Given the description of an element on the screen output the (x, y) to click on. 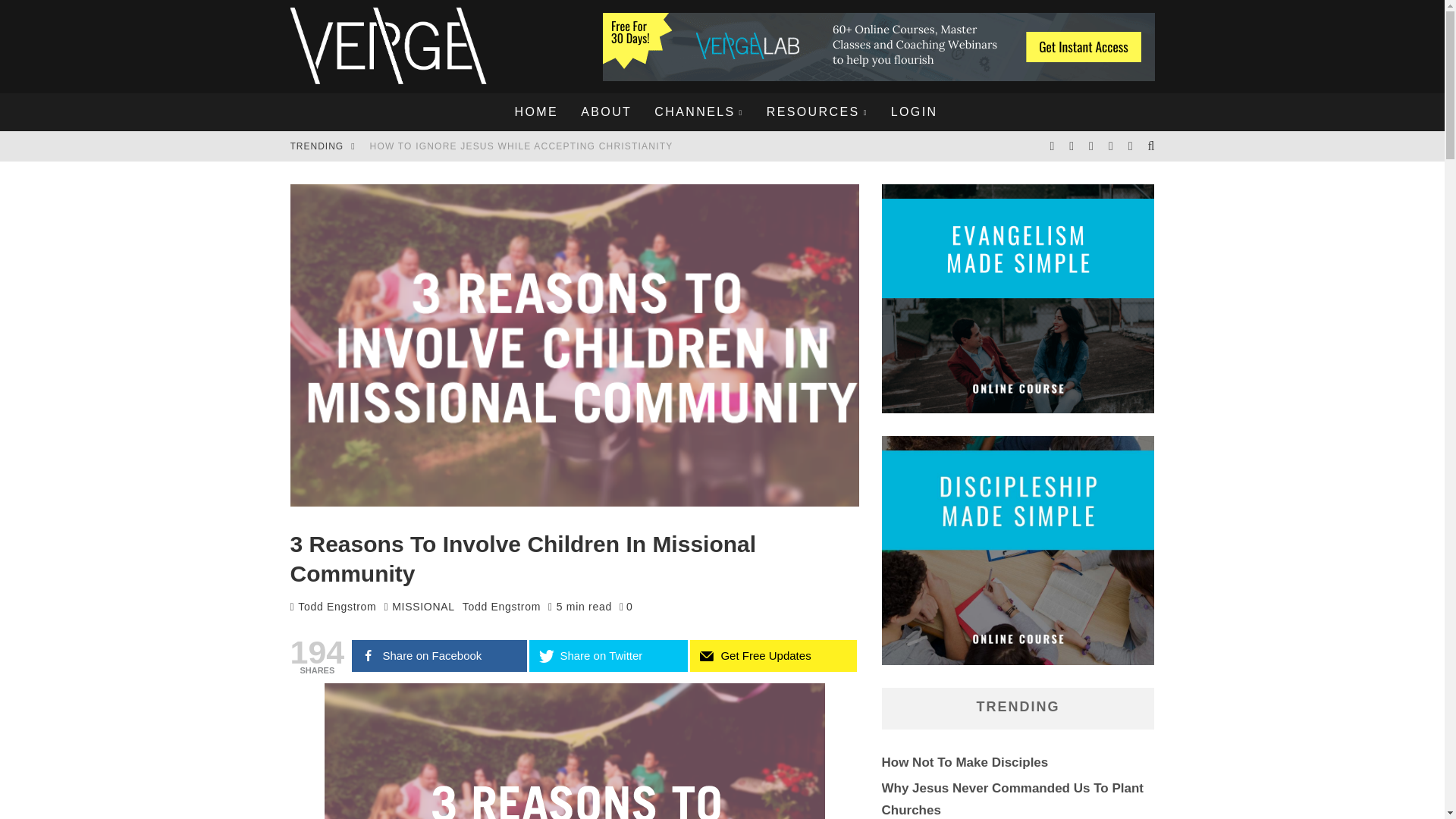
RESOURCES (817, 112)
CHANNELS (698, 112)
HOW TO IGNORE JESUS WHILE ACCEPTING CHRISTIANITY (520, 145)
LOGIN (914, 112)
HOME (536, 112)
ABOUT (606, 112)
How to Ignore Jesus While Accepting Christianity (520, 145)
